Given the description of an element on the screen output the (x, y) to click on. 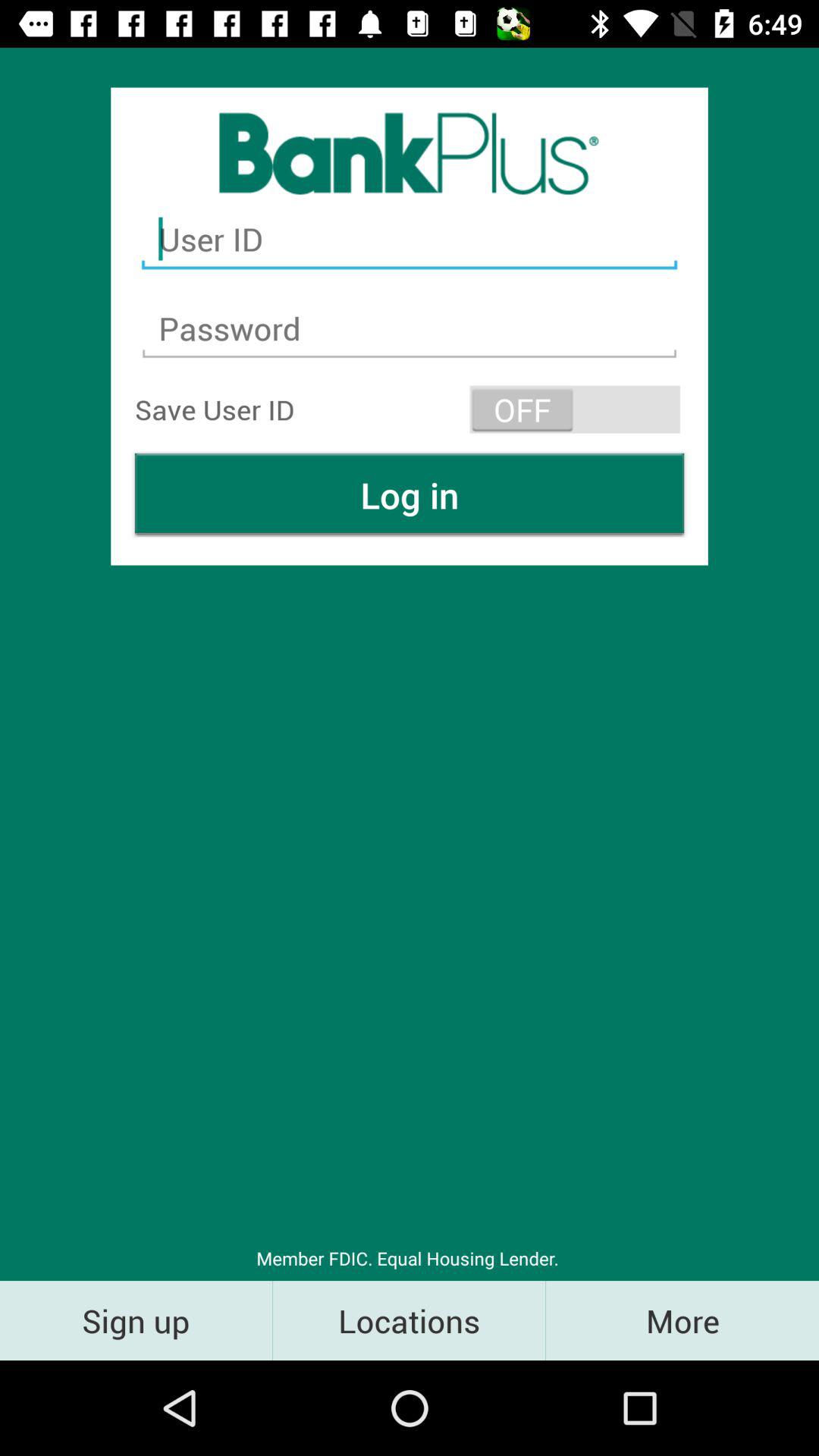
scroll to the sign up (136, 1320)
